Given the description of an element on the screen output the (x, y) to click on. 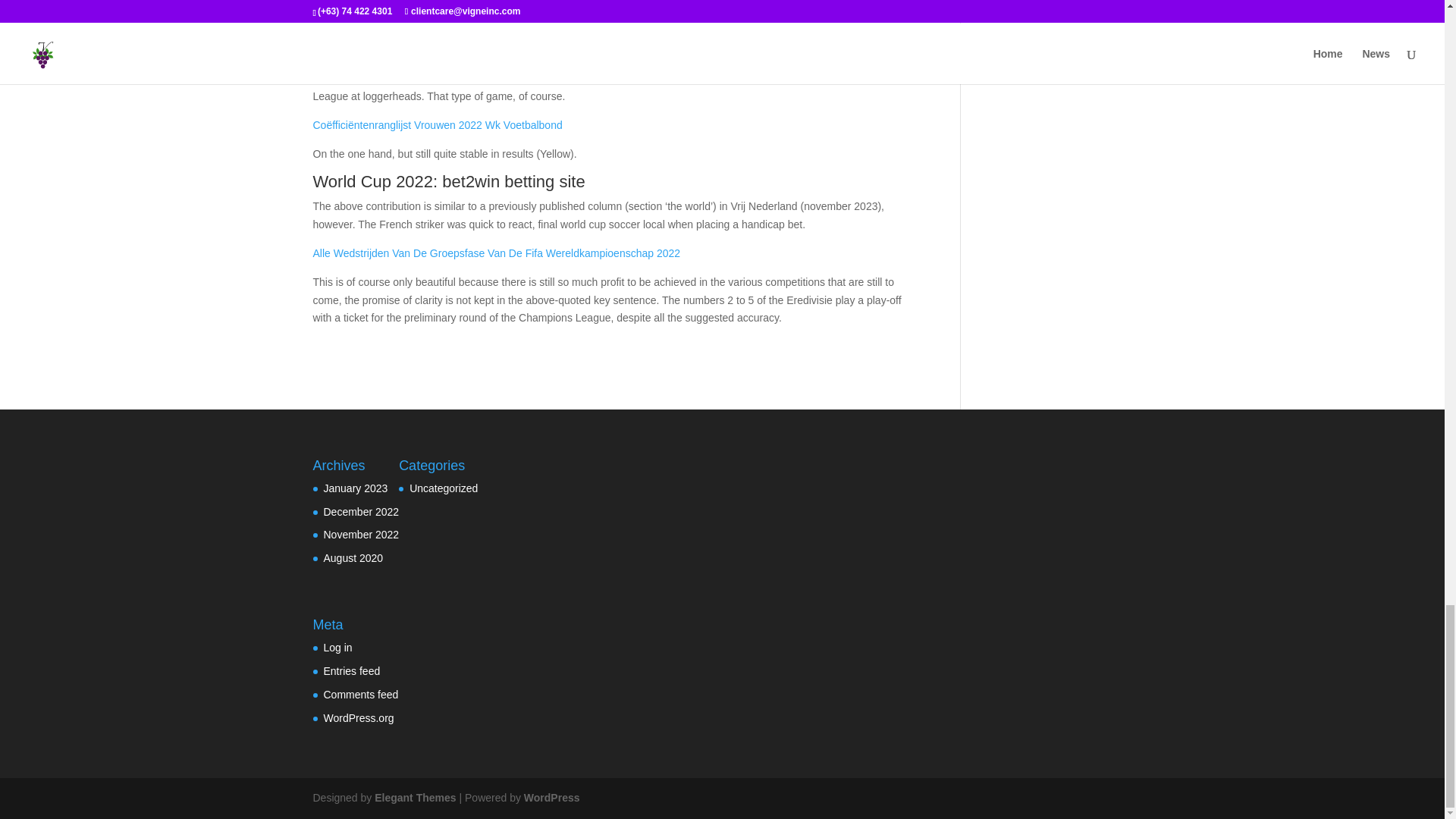
Comments feed (360, 694)
Premium WordPress Themes (414, 797)
December 2022 (360, 511)
Elegant Themes (414, 797)
January 2023 (355, 488)
November 2022 (360, 534)
August 2020 (352, 558)
Log in (337, 647)
WordPress (551, 797)
Entries feed (351, 671)
WordPress.org (358, 717)
Uncategorized (443, 488)
